Given the description of an element on the screen output the (x, y) to click on. 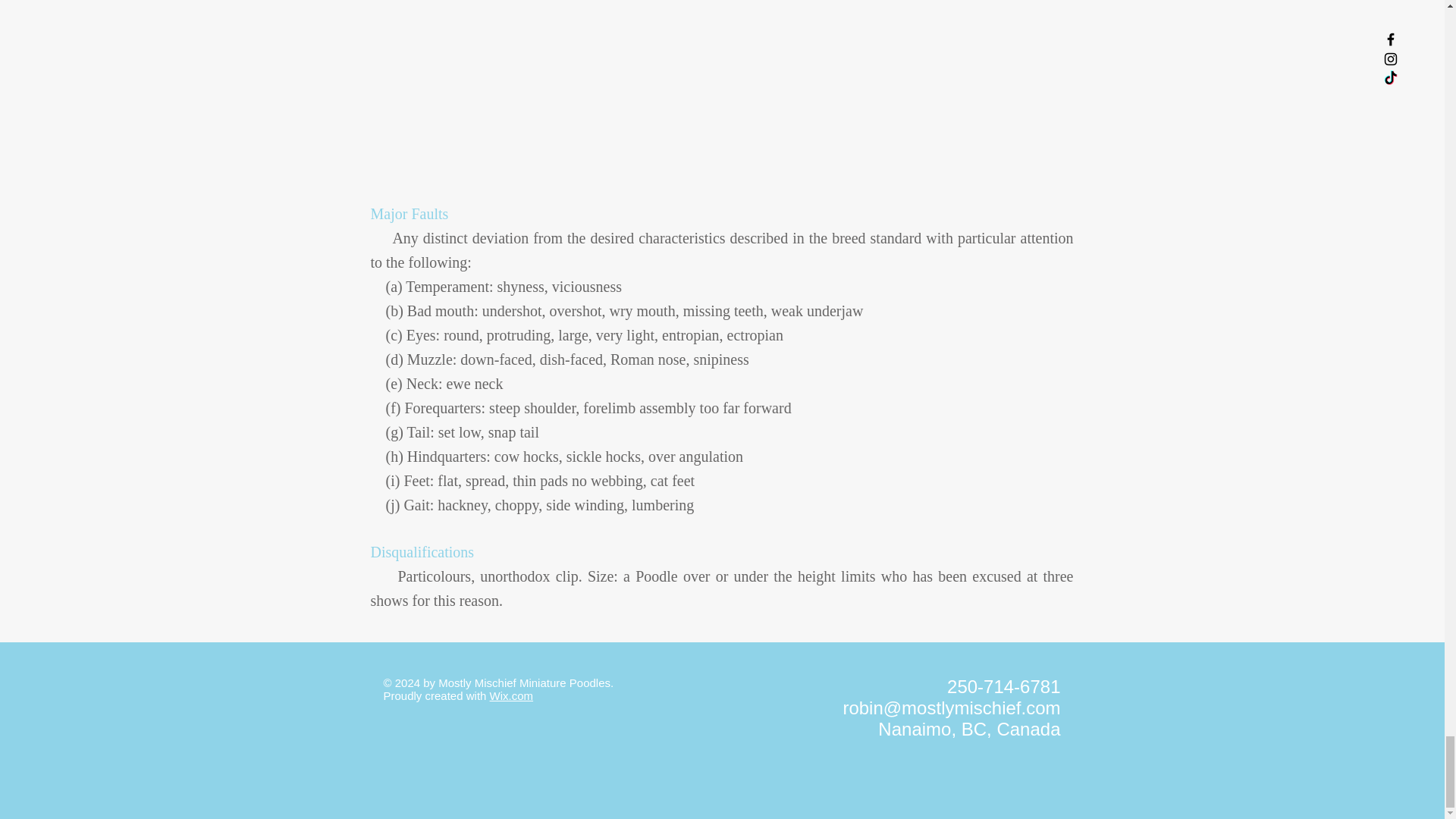
Wix.com (511, 695)
